Given the description of an element on the screen output the (x, y) to click on. 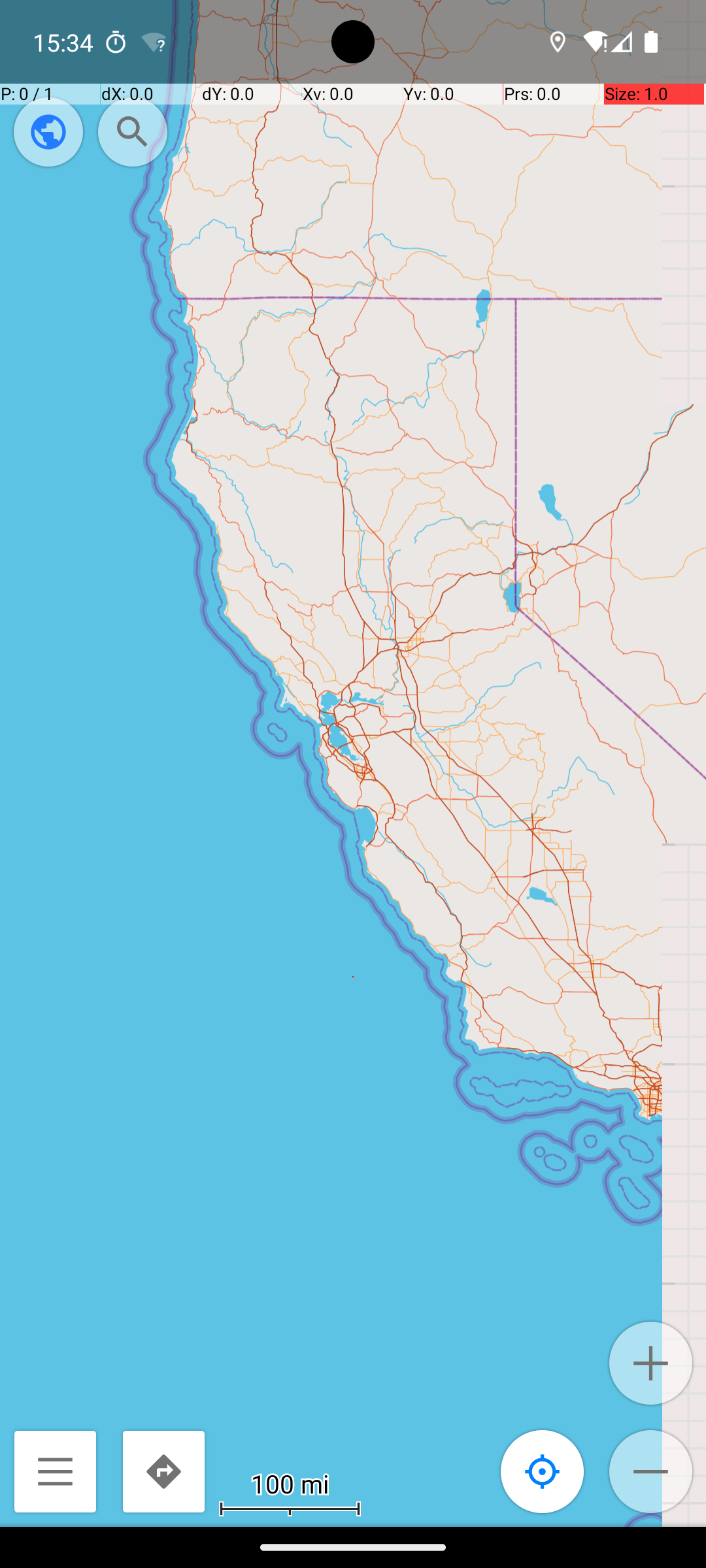
100 mi Element type: android.widget.TextView (274, 1483)
Map linked to location Element type: android.widget.ImageButton (542, 1471)
